Given the description of an element on the screen output the (x, y) to click on. 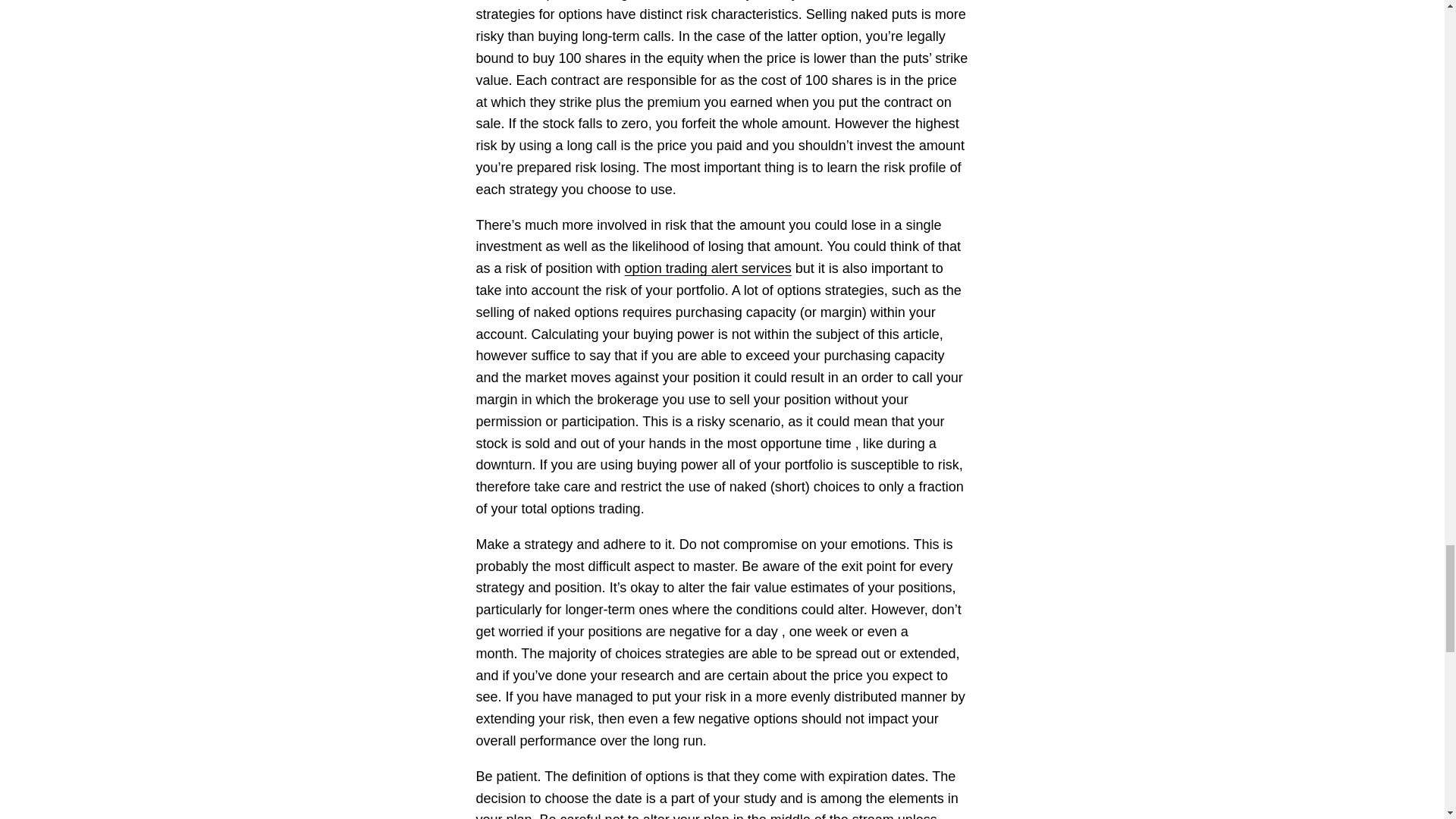
option trading alert services (708, 268)
